Given the description of an element on the screen output the (x, y) to click on. 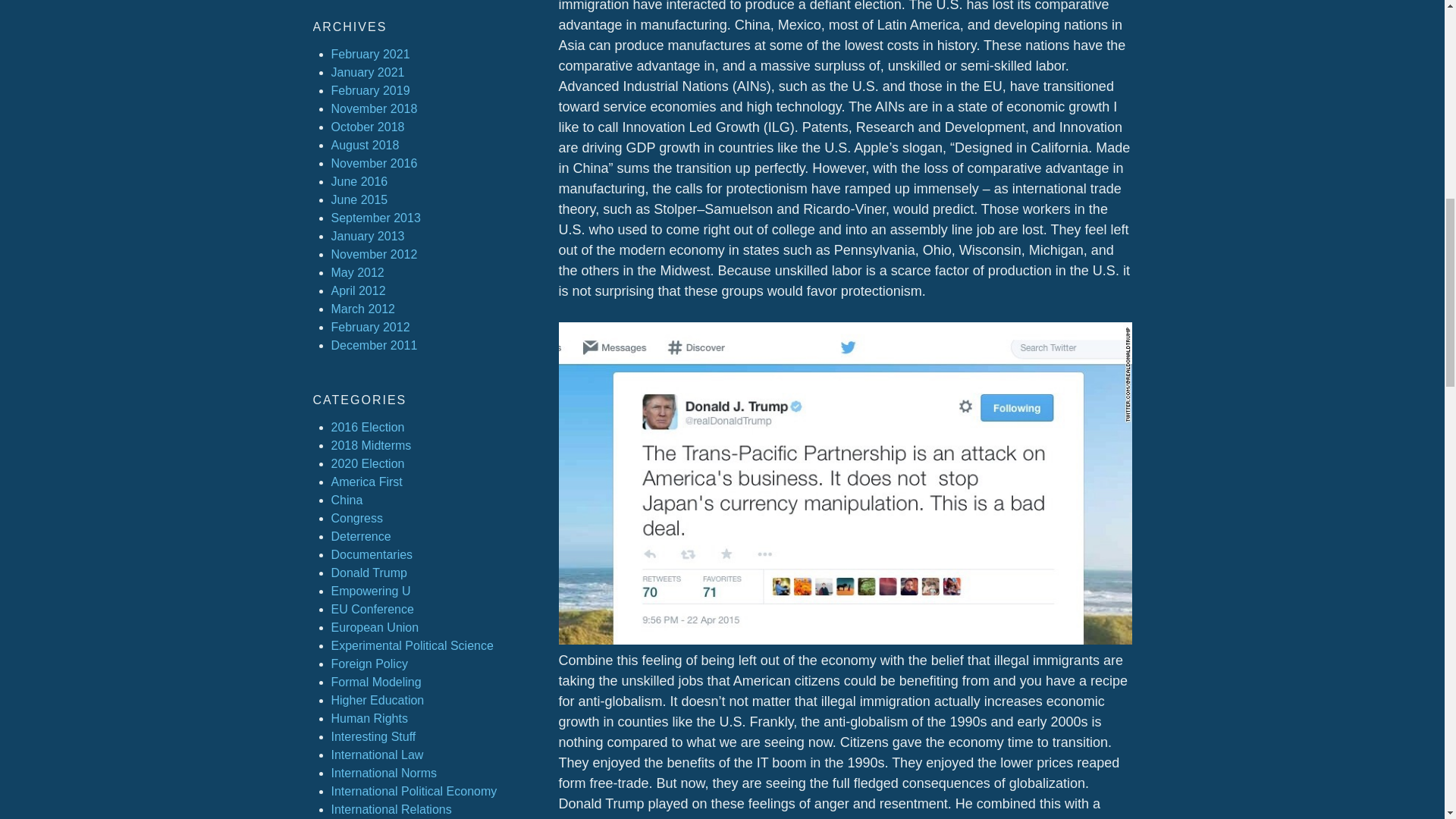
February 2019 (369, 90)
February 2021 (369, 53)
October 2018 (367, 126)
August 2018 (364, 144)
November 2016 (373, 163)
January 2021 (367, 72)
November 2018 (373, 108)
June 2016 (358, 181)
